Given the description of an element on the screen output the (x, y) to click on. 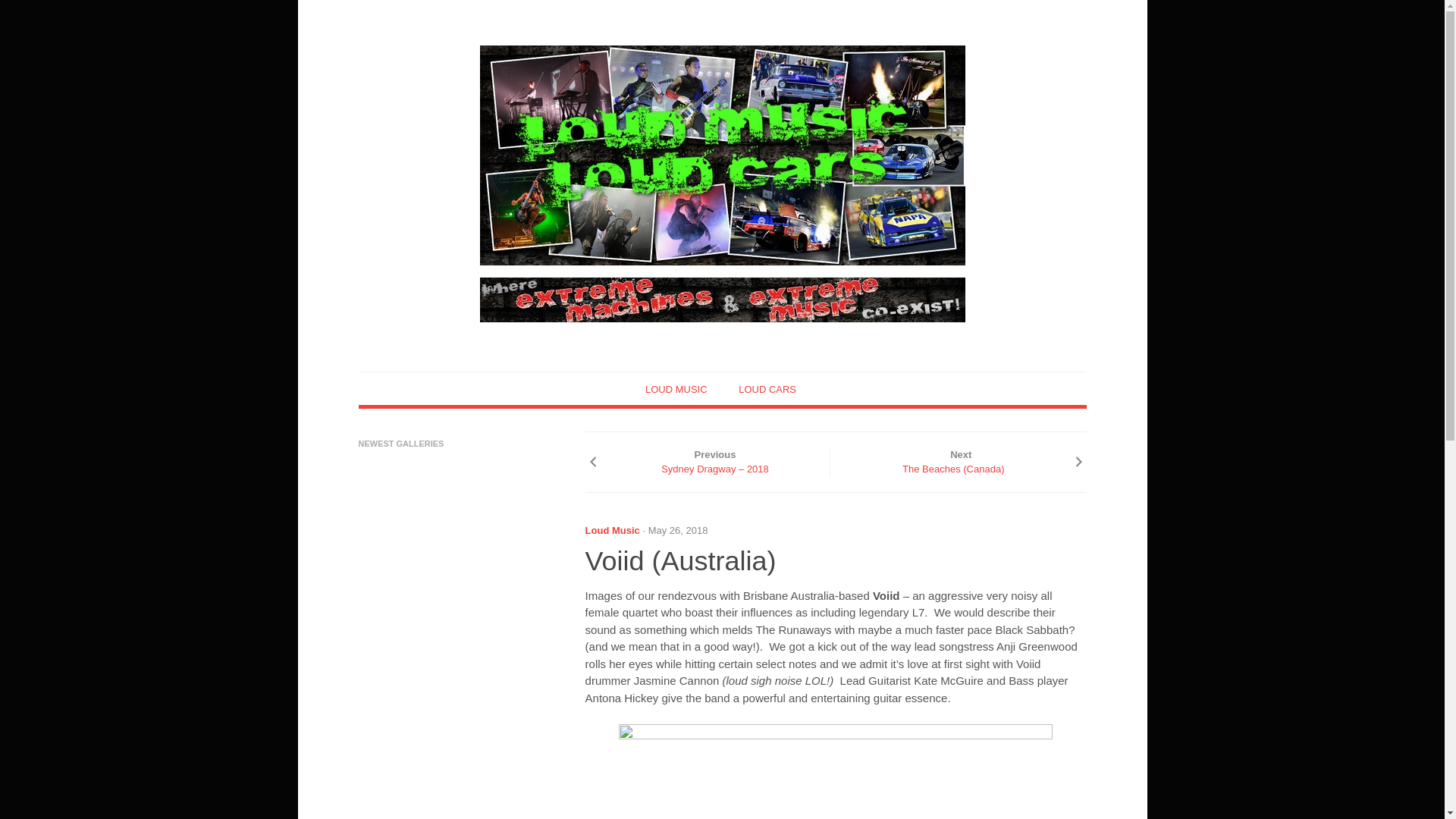
Loud Music (612, 530)
LOUD MUSIC (675, 389)
LOUD CARS (767, 389)
